Given the description of an element on the screen output the (x, y) to click on. 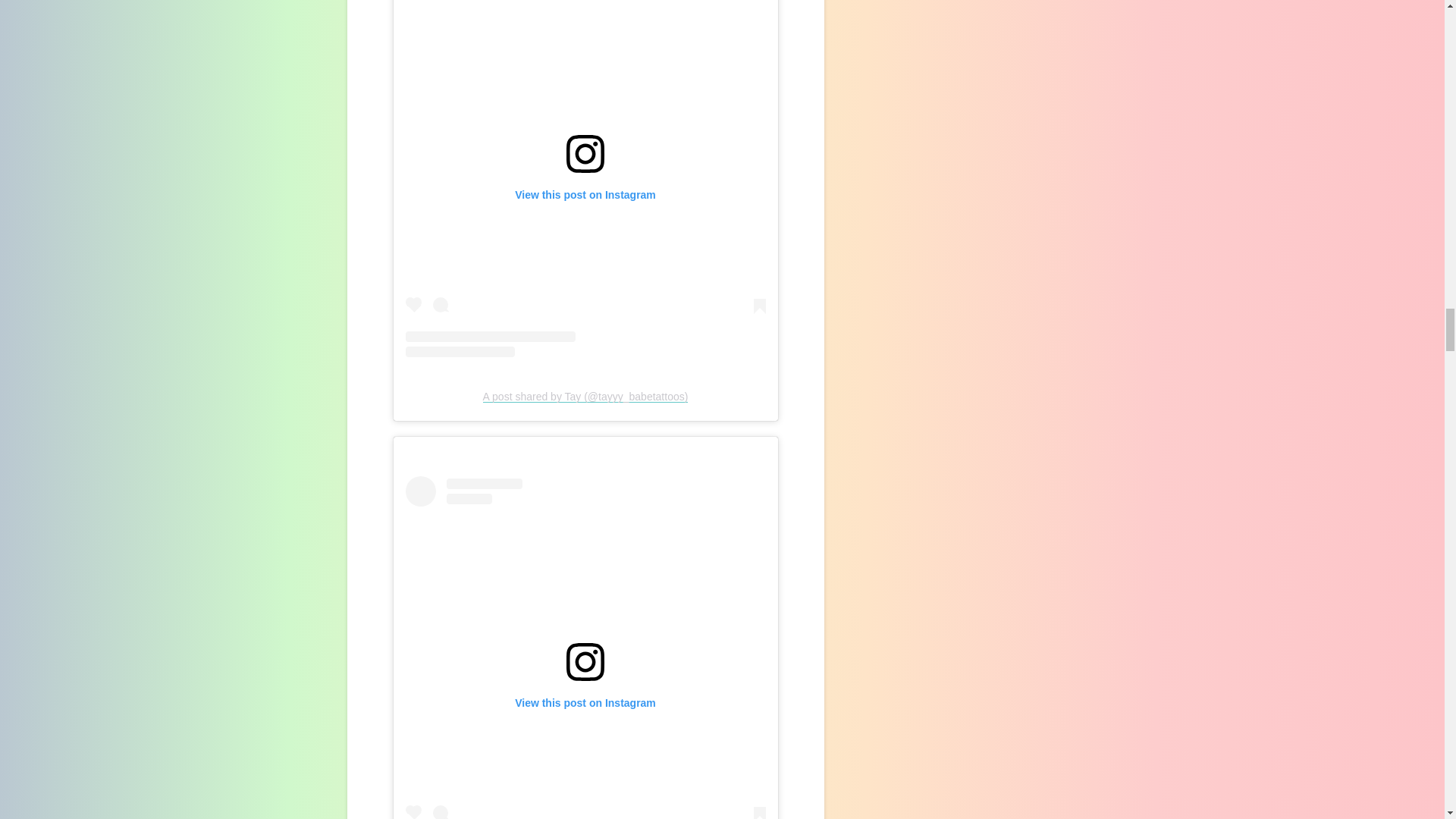
View this post on Instagram (584, 647)
View this post on Instagram (584, 178)
